Given the description of an element on the screen output the (x, y) to click on. 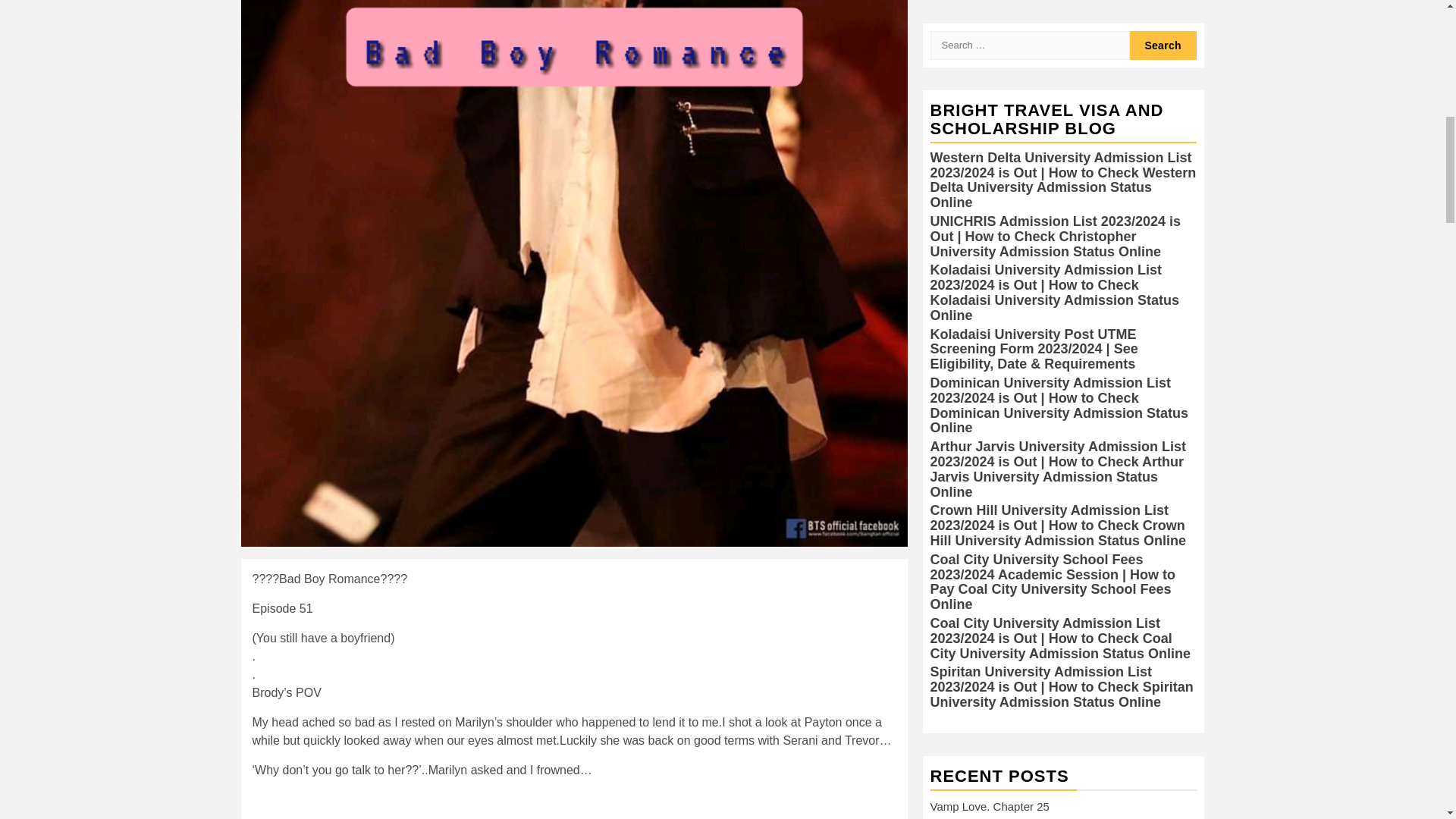
Advertisement (573, 805)
